Given the description of an element on the screen output the (x, y) to click on. 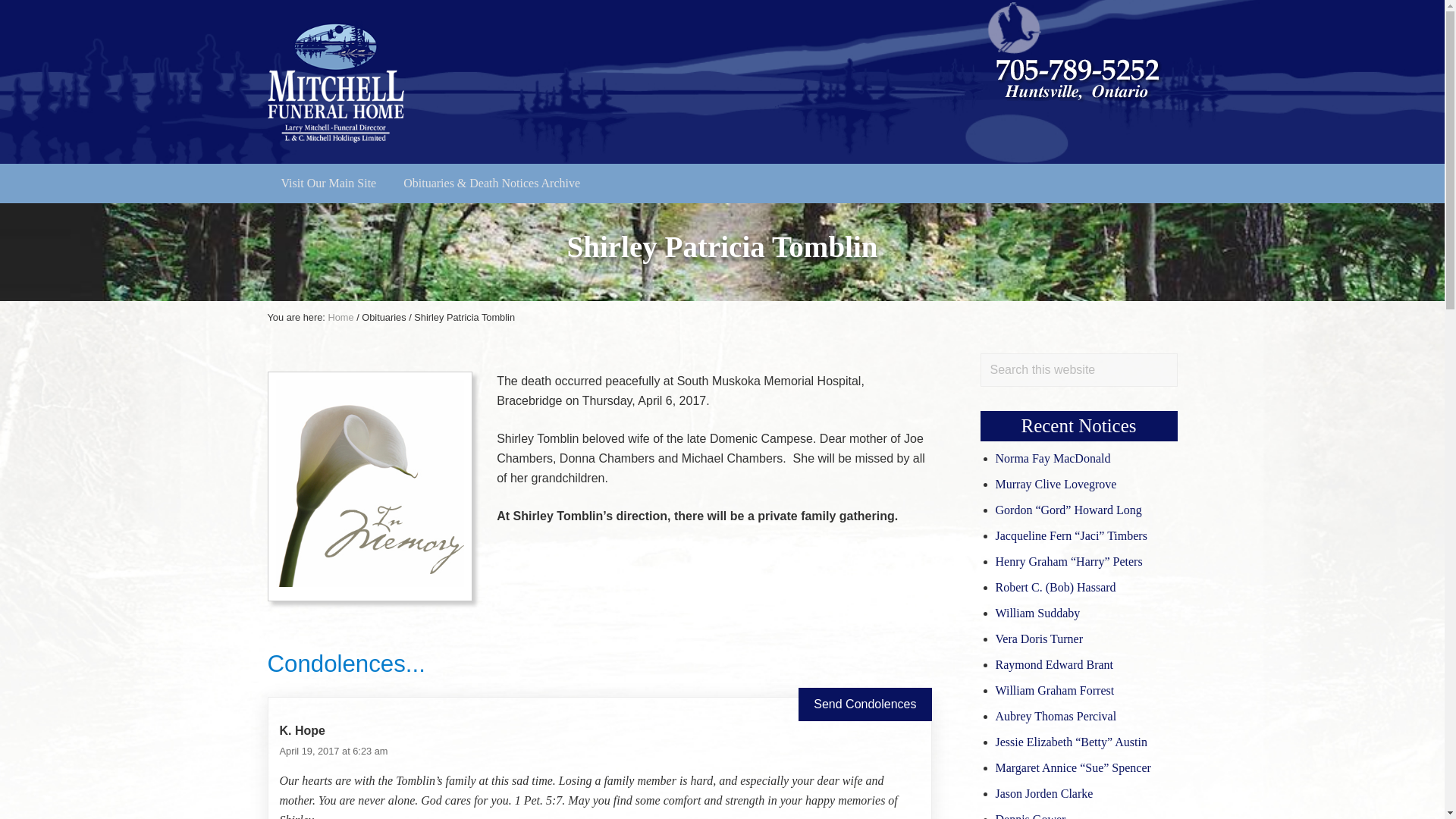
William Suddaby (1037, 612)
April 19, 2017 at 6:23 am (333, 750)
Condolences... (345, 663)
Raymond Edward Brant (1053, 664)
Home (340, 317)
Jason Jorden Clarke (1043, 793)
Aubrey Thomas Percival (1055, 716)
Norma Fay MacDonald (1051, 458)
Murray Clive Lovegrove (1055, 483)
Send Condolences (864, 704)
Visit Our Main Site (328, 183)
William Graham Forrest (1053, 689)
Dennis Gower (1029, 816)
